Given the description of an element on the screen output the (x, y) to click on. 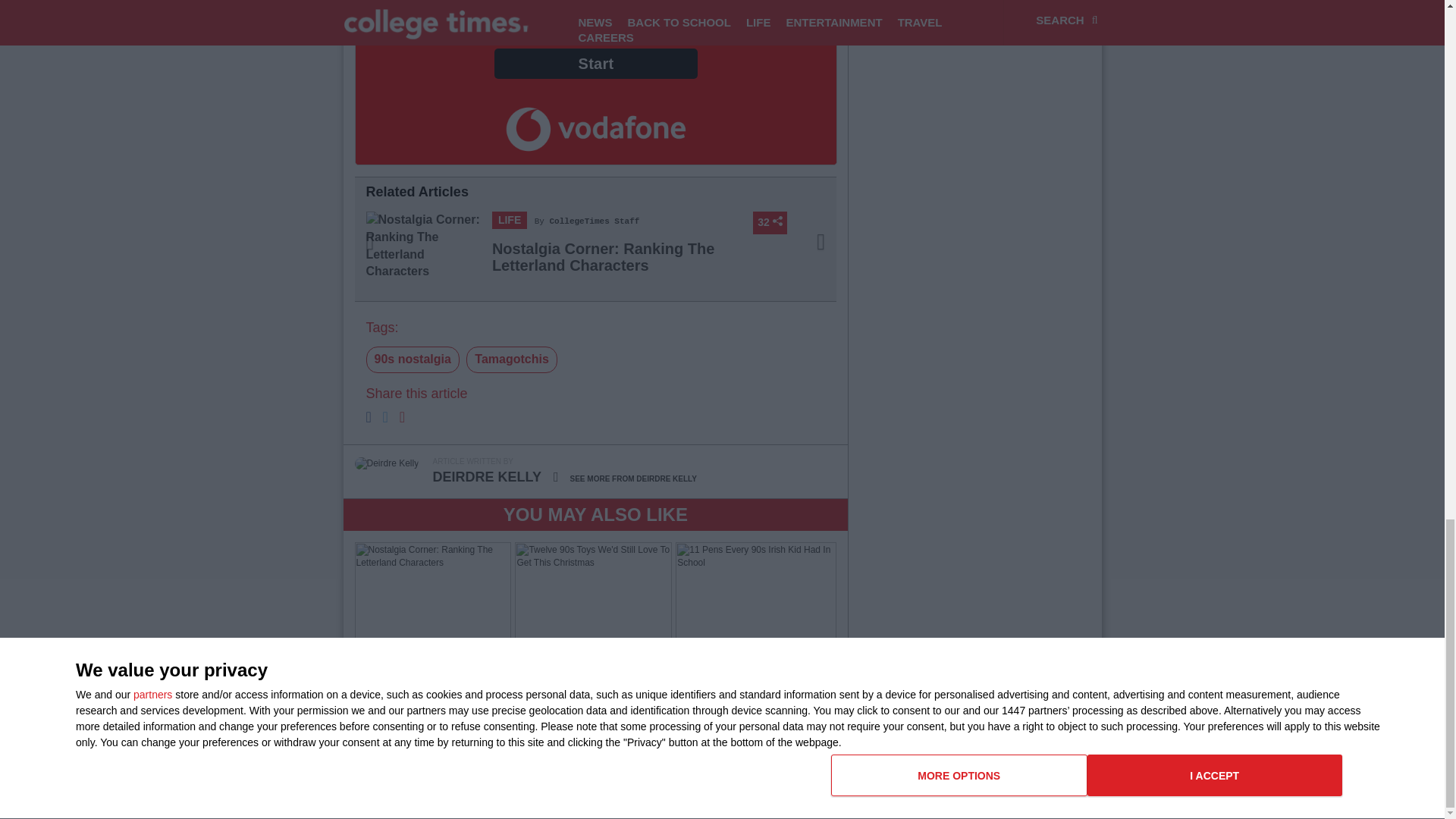
Nostalgia Corner: Ranking The Letterland Characters (603, 256)
CollegeTimes Staff (595, 221)
90s nostalgia (411, 359)
Tamagotchis (511, 359)
LIFE (509, 220)
